Given the description of an element on the screen output the (x, y) to click on. 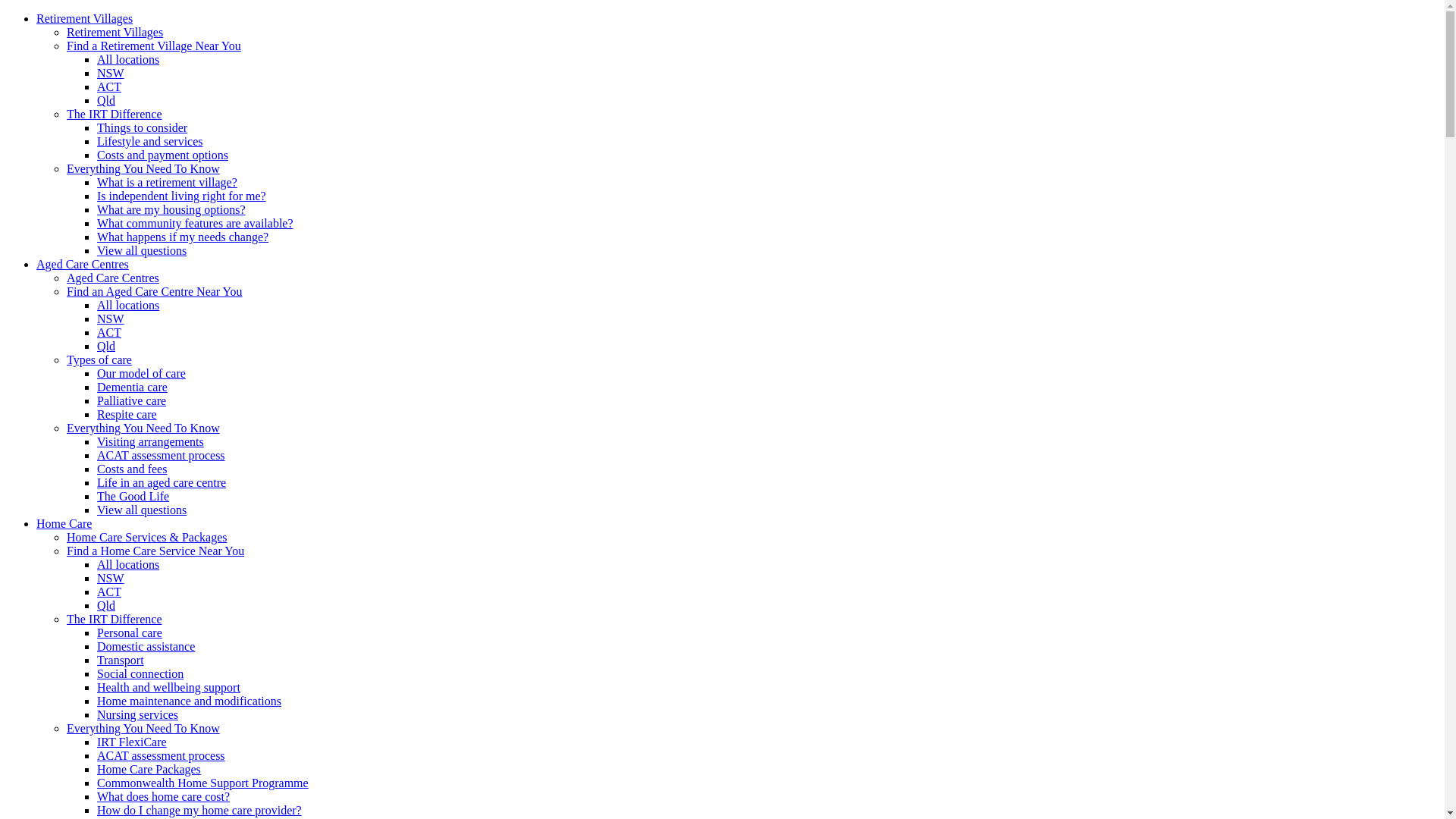
NSW Element type: text (110, 577)
View all questions Element type: text (141, 250)
Lifestyle and services Element type: text (150, 140)
Dementia care Element type: text (132, 386)
What happens if my needs change? Element type: text (182, 236)
Palliative care Element type: text (131, 400)
The IRT Difference Element type: text (114, 113)
Nursing services Element type: text (137, 714)
Things to consider Element type: text (142, 127)
Commonwealth Home Support Programme Element type: text (202, 782)
Find a Retirement Village Near You Element type: text (153, 45)
Everything You Need To Know Element type: text (142, 427)
Home Care Element type: text (63, 523)
Our model of care Element type: text (141, 373)
IRT FlexiCare Element type: text (131, 741)
Social connection Element type: text (140, 673)
Home Care Services & Packages Element type: text (146, 536)
ACT Element type: text (109, 332)
The IRT Difference Element type: text (114, 618)
Domestic assistance Element type: text (145, 646)
Types of care Element type: text (98, 359)
View all questions Element type: text (141, 509)
Find a Home Care Service Near You Element type: text (155, 550)
Aged Care Centres Element type: text (82, 263)
NSW Element type: text (110, 72)
All locations Element type: text (128, 564)
How do I change my home care provider? Element type: text (199, 809)
All locations Element type: text (128, 59)
ACAT assessment process Element type: text (161, 755)
Home Care Packages Element type: text (148, 768)
Everything You Need To Know Element type: text (142, 168)
Is independent living right for me? Element type: text (181, 195)
Qld Element type: text (106, 345)
ACT Element type: text (109, 86)
Health and wellbeing support Element type: text (168, 686)
Visiting arrangements Element type: text (150, 441)
All locations Element type: text (128, 304)
Qld Element type: text (106, 100)
Retirement Villages Element type: text (114, 31)
Costs and payment options Element type: text (162, 154)
Respite care Element type: text (126, 413)
What does home care cost? Element type: text (163, 796)
Retirement Villages Element type: text (84, 18)
Personal care Element type: text (129, 632)
Costs and fees Element type: text (131, 468)
NSW Element type: text (110, 318)
ACT Element type: text (109, 591)
Qld Element type: text (106, 605)
What is a retirement village? Element type: text (167, 181)
The Good Life Element type: text (133, 495)
Everything You Need To Know Element type: text (142, 727)
Aged Care Centres Element type: text (112, 277)
Find an Aged Care Centre Near You Element type: text (154, 291)
What community features are available? Element type: text (195, 222)
Transport Element type: text (120, 659)
Home maintenance and modifications Element type: text (189, 700)
What are my housing options? Element type: text (171, 209)
ACAT assessment process Element type: text (161, 454)
Life in an aged care centre Element type: text (161, 482)
